Given the description of an element on the screen output the (x, y) to click on. 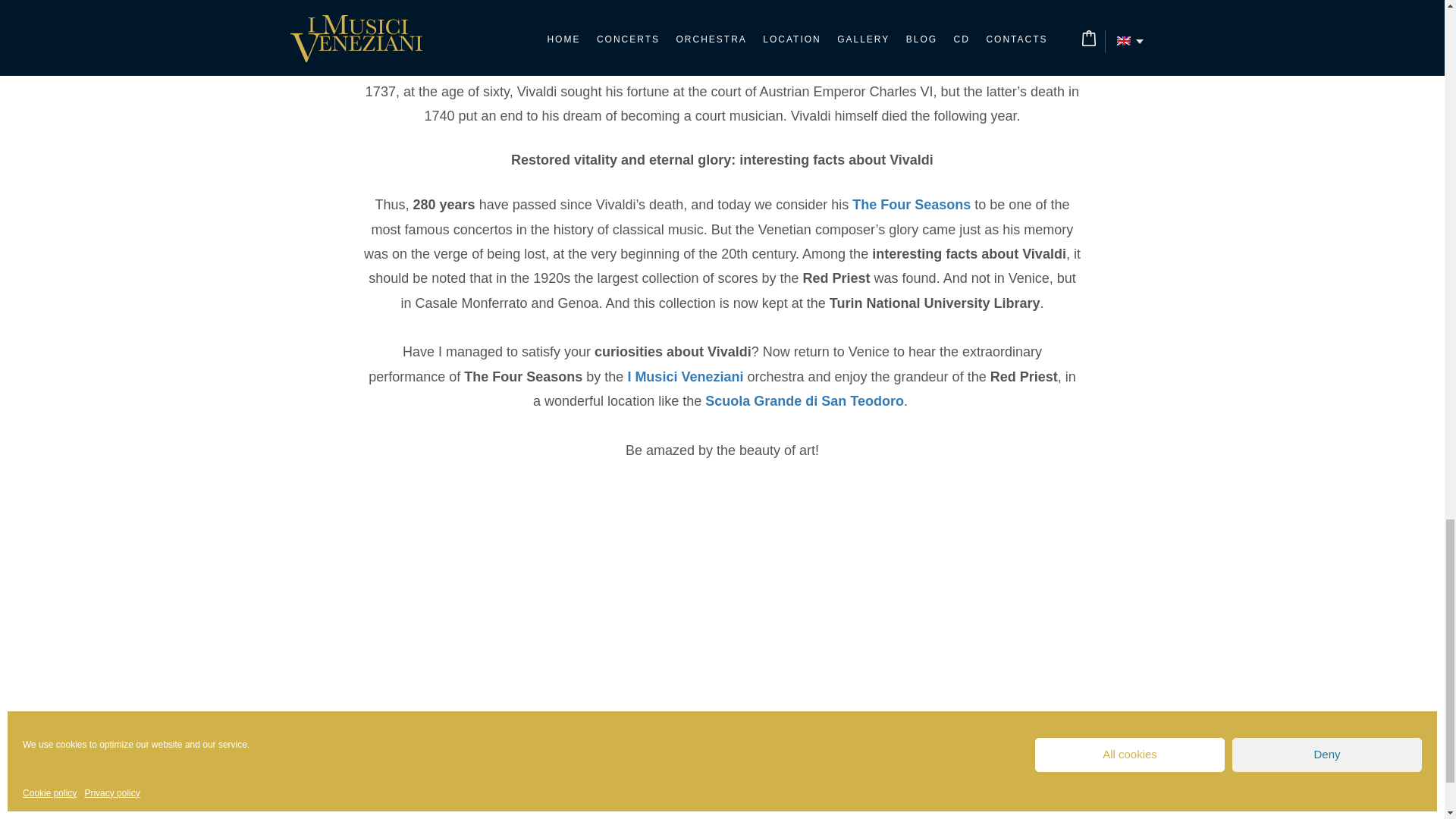
The Four Seasons (911, 204)
I Musici Veneziani (684, 376)
Scuola Grande di San Teodoro (804, 400)
